Given the description of an element on the screen output the (x, y) to click on. 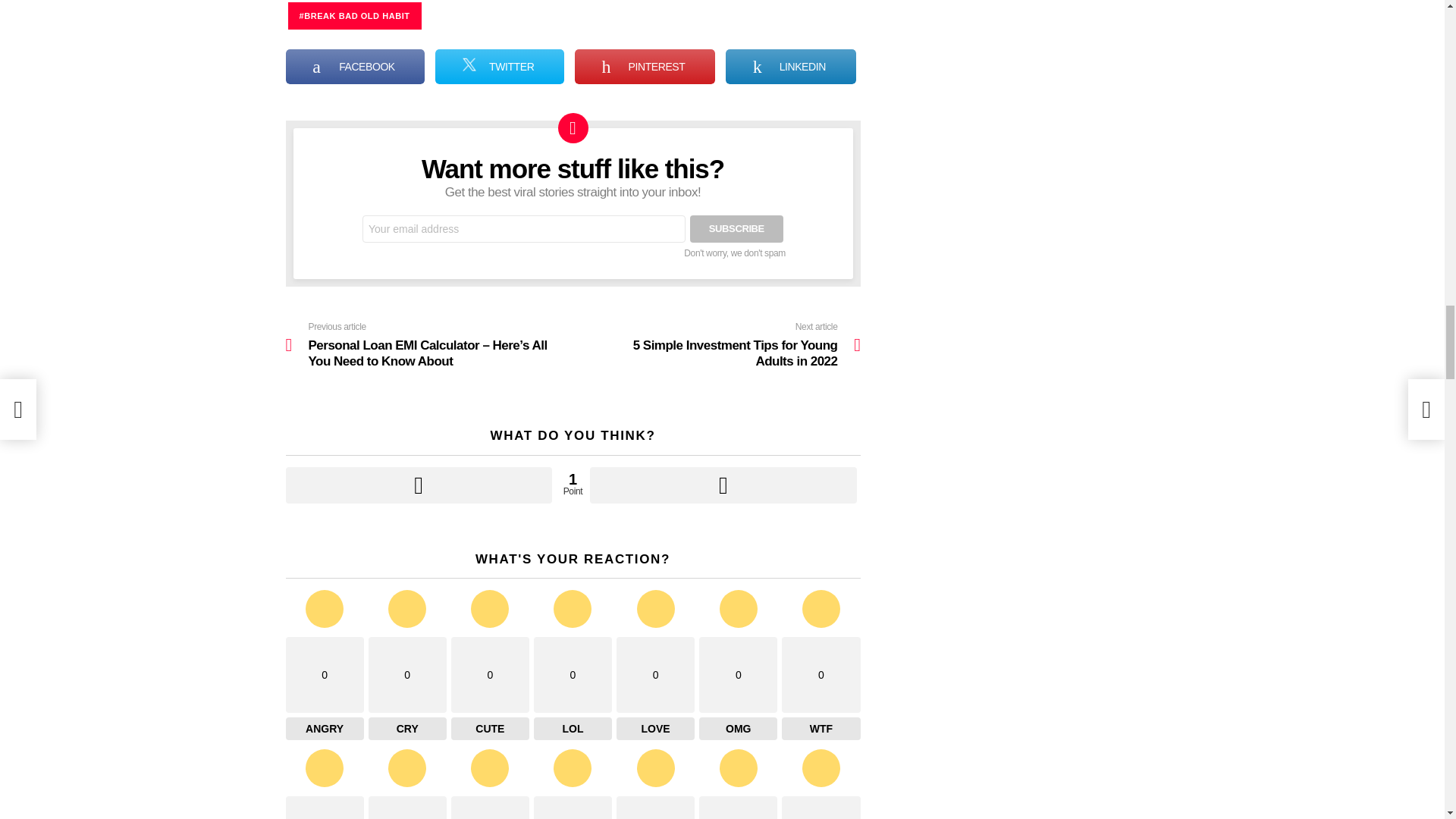
Subscribe (736, 228)
